Given the description of an element on the screen output the (x, y) to click on. 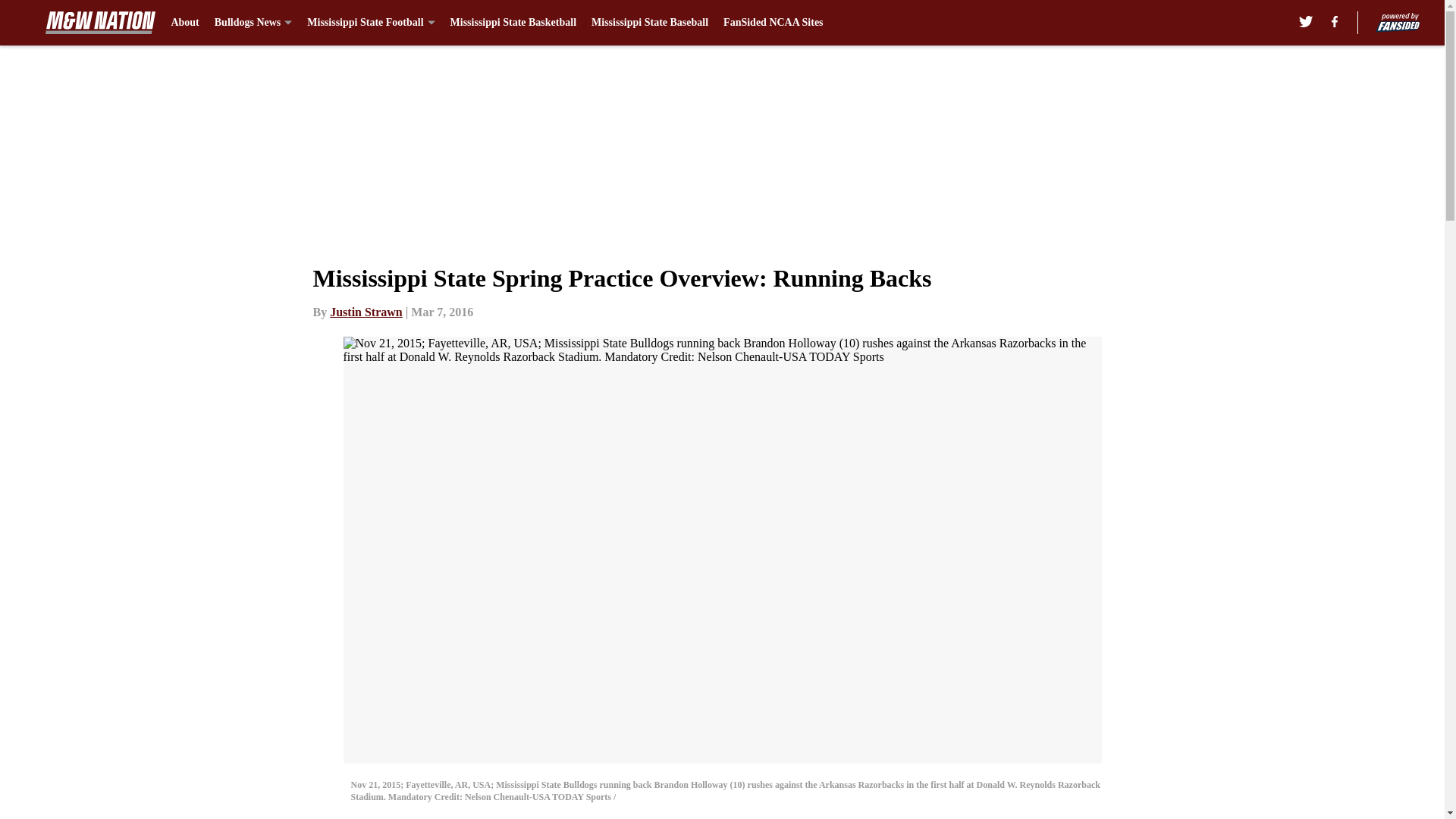
Mississippi State Baseball (649, 22)
Justin Strawn (366, 311)
FanSided NCAA Sites (772, 22)
About (184, 22)
Mississippi State Basketball (512, 22)
